Given the description of an element on the screen output the (x, y) to click on. 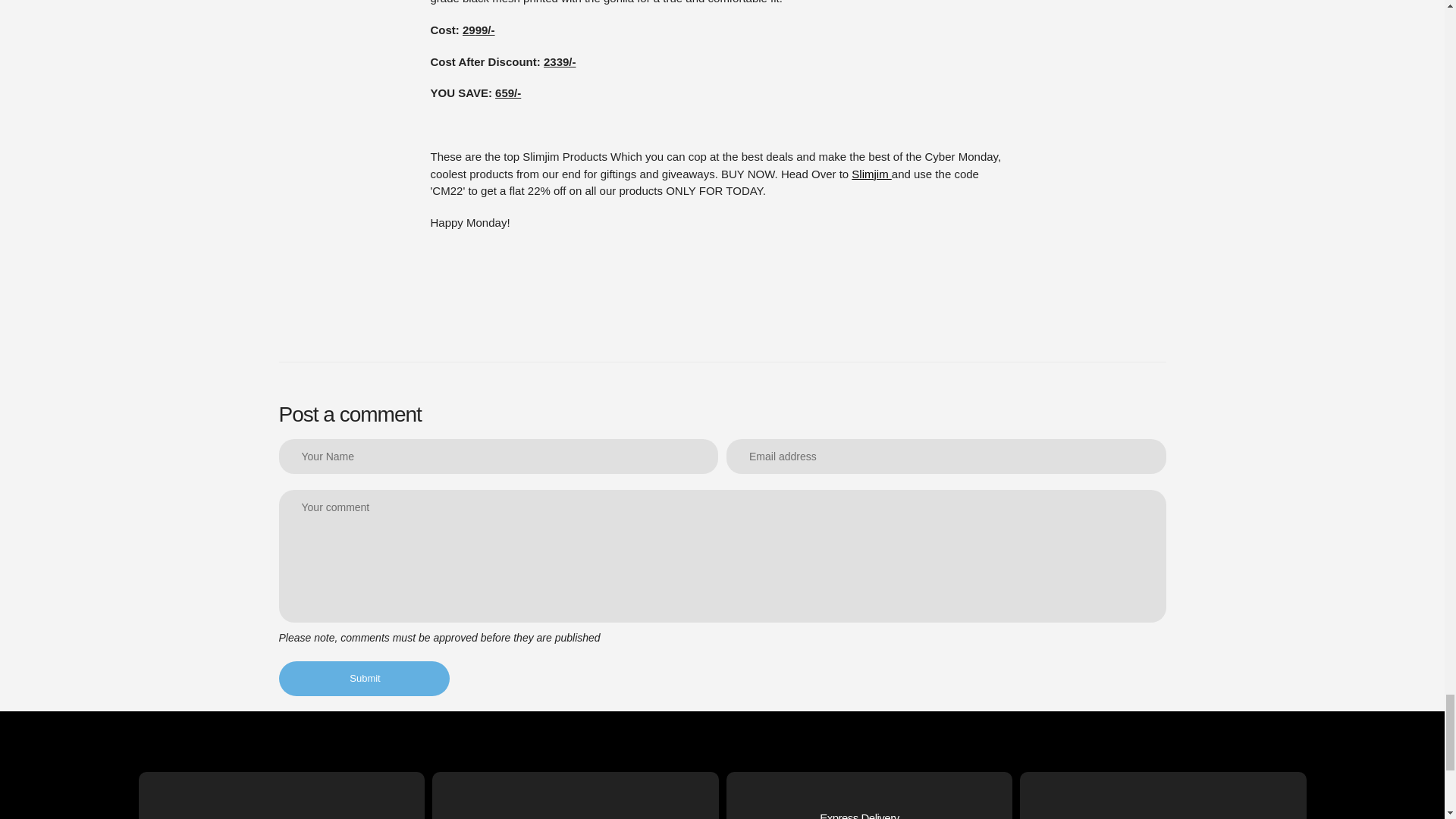
Submit (364, 678)
